Given the description of an element on the screen output the (x, y) to click on. 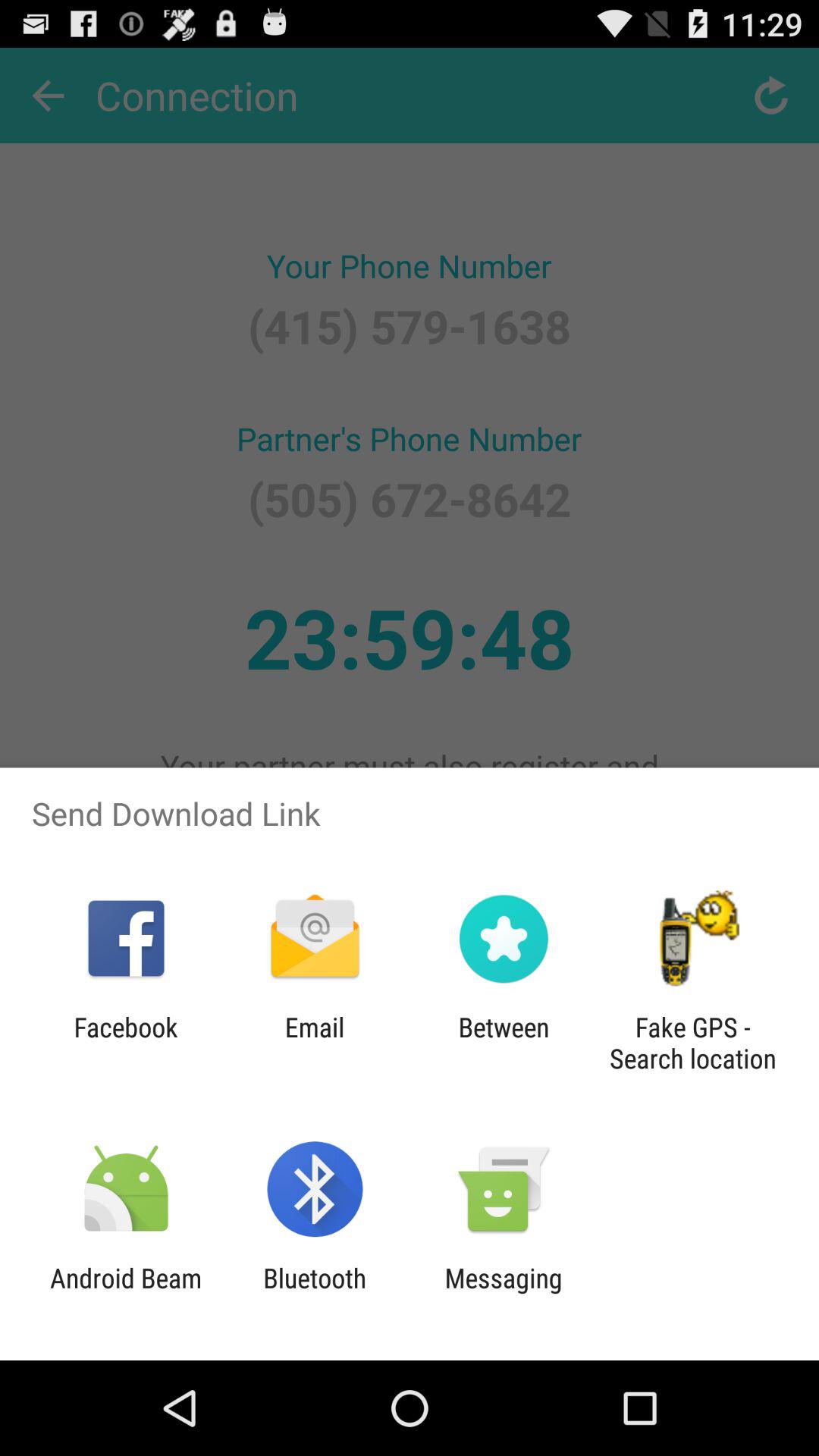
click the item next to the between icon (692, 1042)
